Given the description of an element on the screen output the (x, y) to click on. 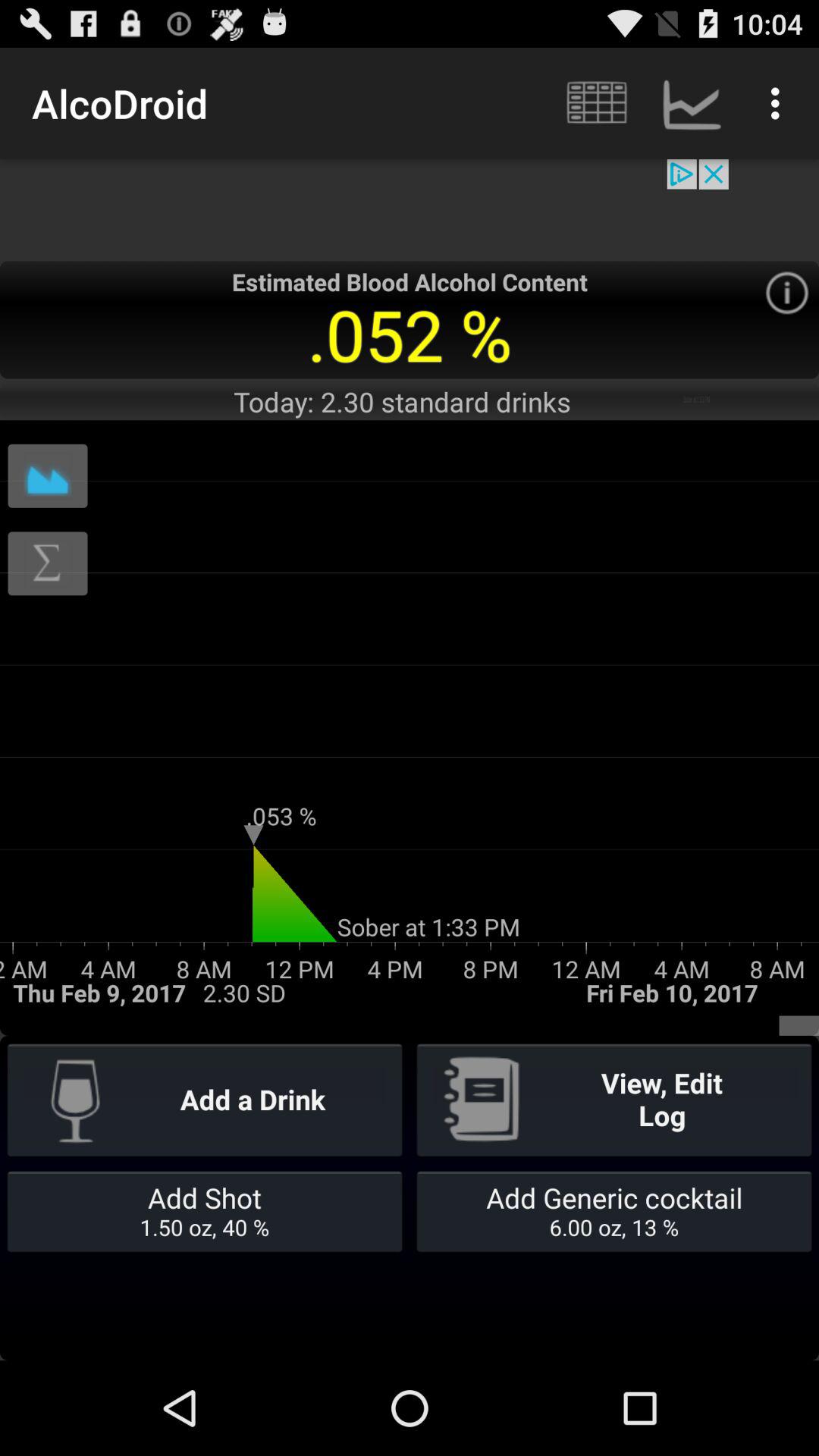
enter app information page (787, 292)
